Given the description of an element on the screen output the (x, y) to click on. 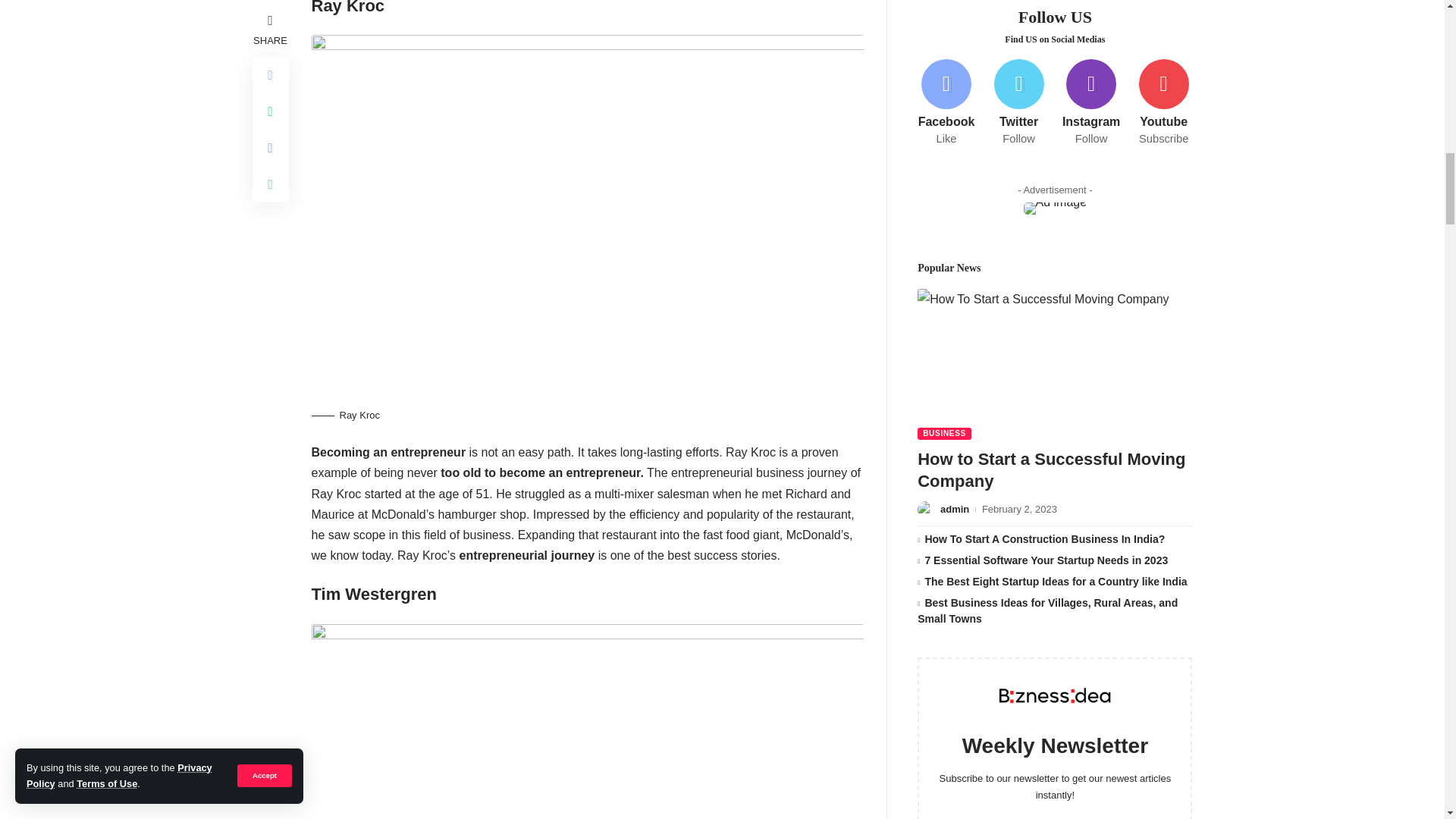
Sign up (1054, 251)
